Given the description of an element on the screen output the (x, y) to click on. 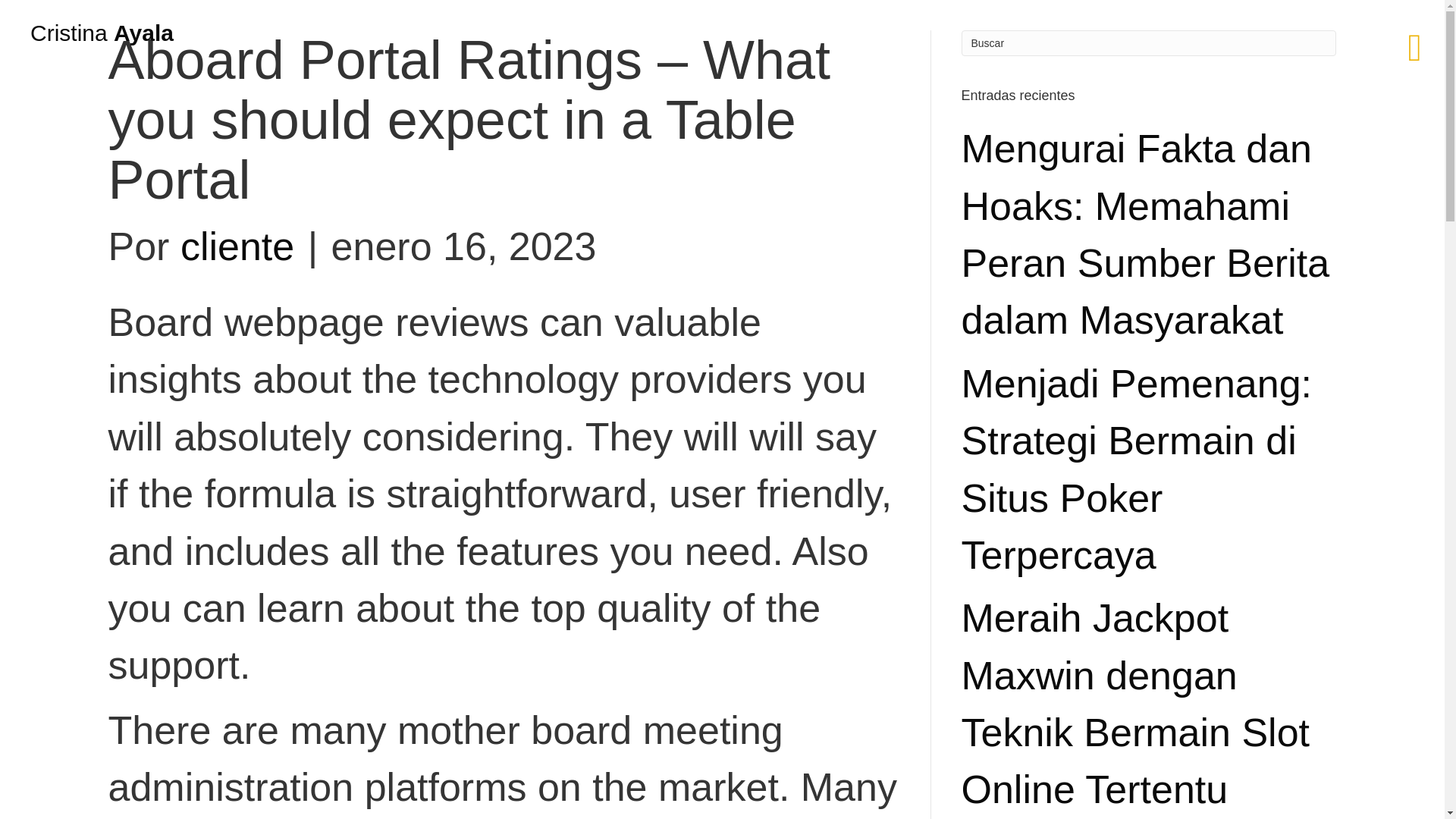
Buscar (1148, 43)
archivo (86, 242)
Cristina Ayala (101, 32)
cliente (237, 246)
Menjadi Pemenang: Strategi Bermain di Situs Poker Terpercaya (1136, 469)
Escribe y pulsa Enter para buscar. (1148, 43)
Buscar (1148, 43)
